Given the description of an element on the screen output the (x, y) to click on. 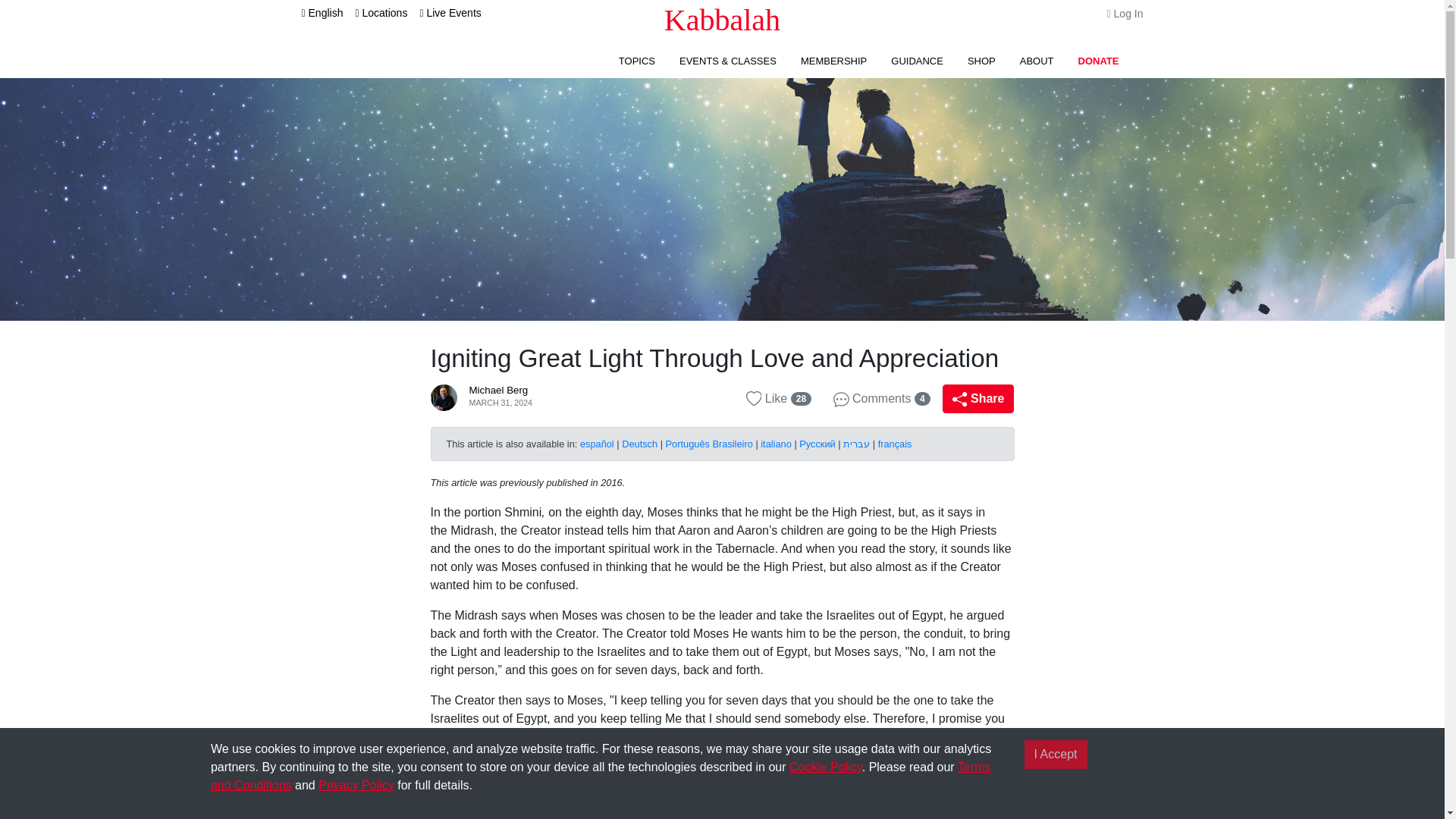
Log In (1124, 13)
Kabbalah (721, 19)
MEMBERSHIP (833, 60)
GUIDANCE (917, 60)
Live Events (449, 12)
SHOP (981, 60)
TOPICS (636, 60)
DONATE (1098, 60)
ABOUT (1037, 60)
English (322, 12)
